Given the description of an element on the screen output the (x, y) to click on. 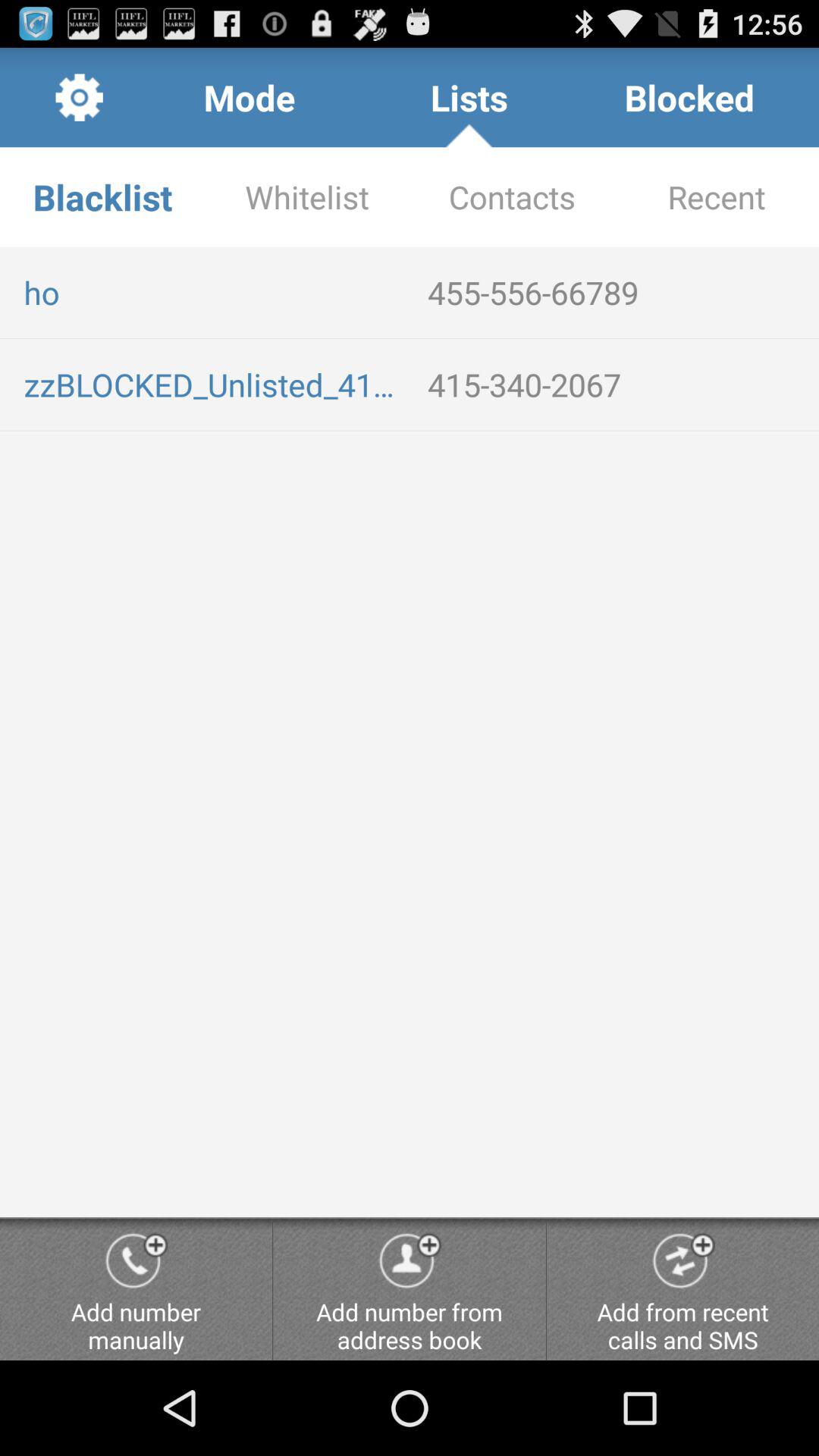
flip to the 415-340-2067 app (617, 384)
